Given the description of an element on the screen output the (x, y) to click on. 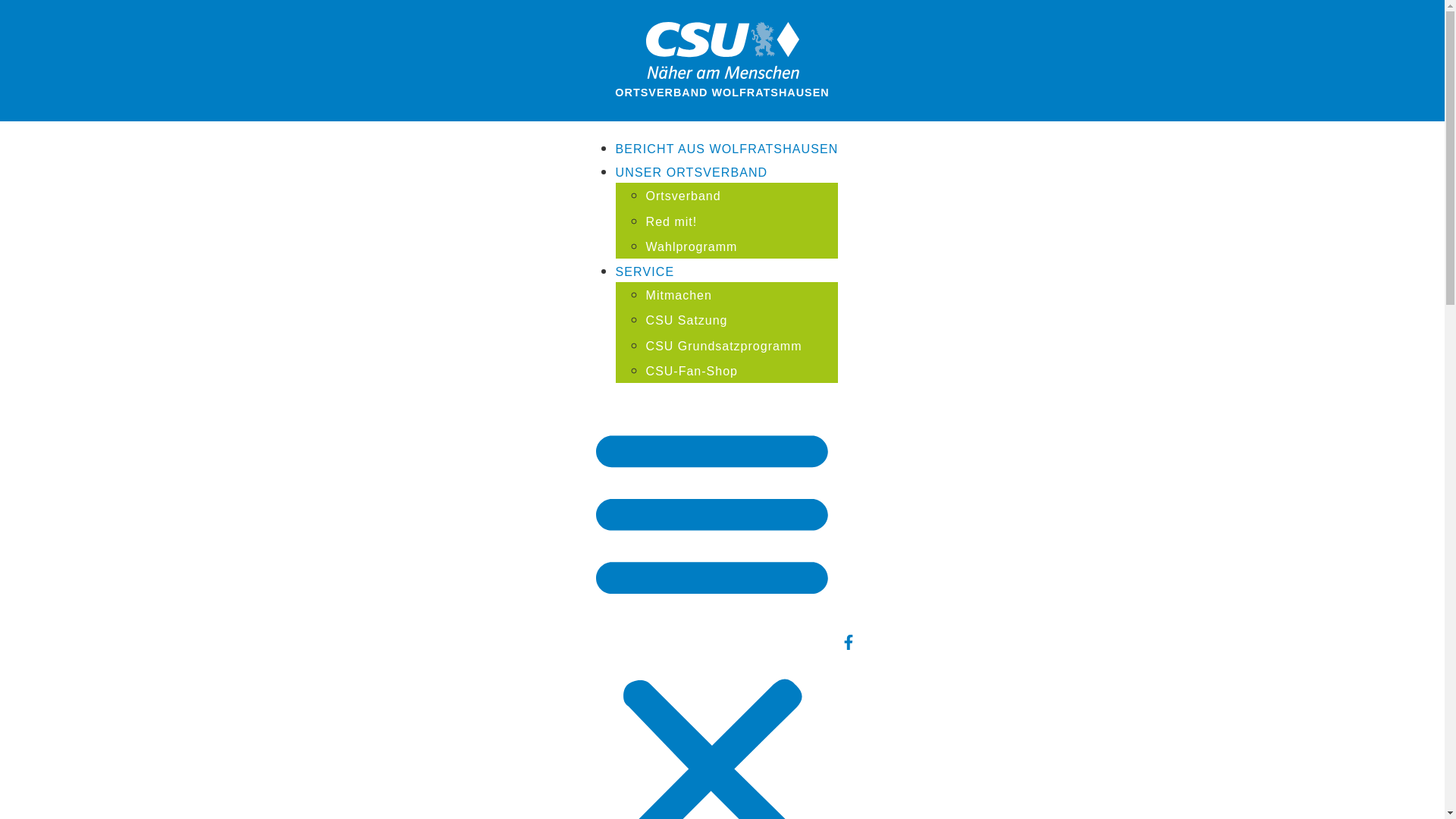
BERICHT AUS WOLFRATSHAUSEN Element type: text (726, 148)
Red mit! Element type: text (671, 221)
CSU Grundsatzprogramm Element type: text (724, 345)
CSU-Fan-Shop Element type: text (691, 370)
SERVICE Element type: text (644, 271)
Ortsverband Element type: text (683, 195)
UNSER ORTSVERBAND Element type: text (691, 172)
Wahlprogramm Element type: text (691, 246)
CSU Satzung Element type: text (687, 319)
Mitmachen Element type: text (679, 294)
